Given the description of an element on the screen output the (x, y) to click on. 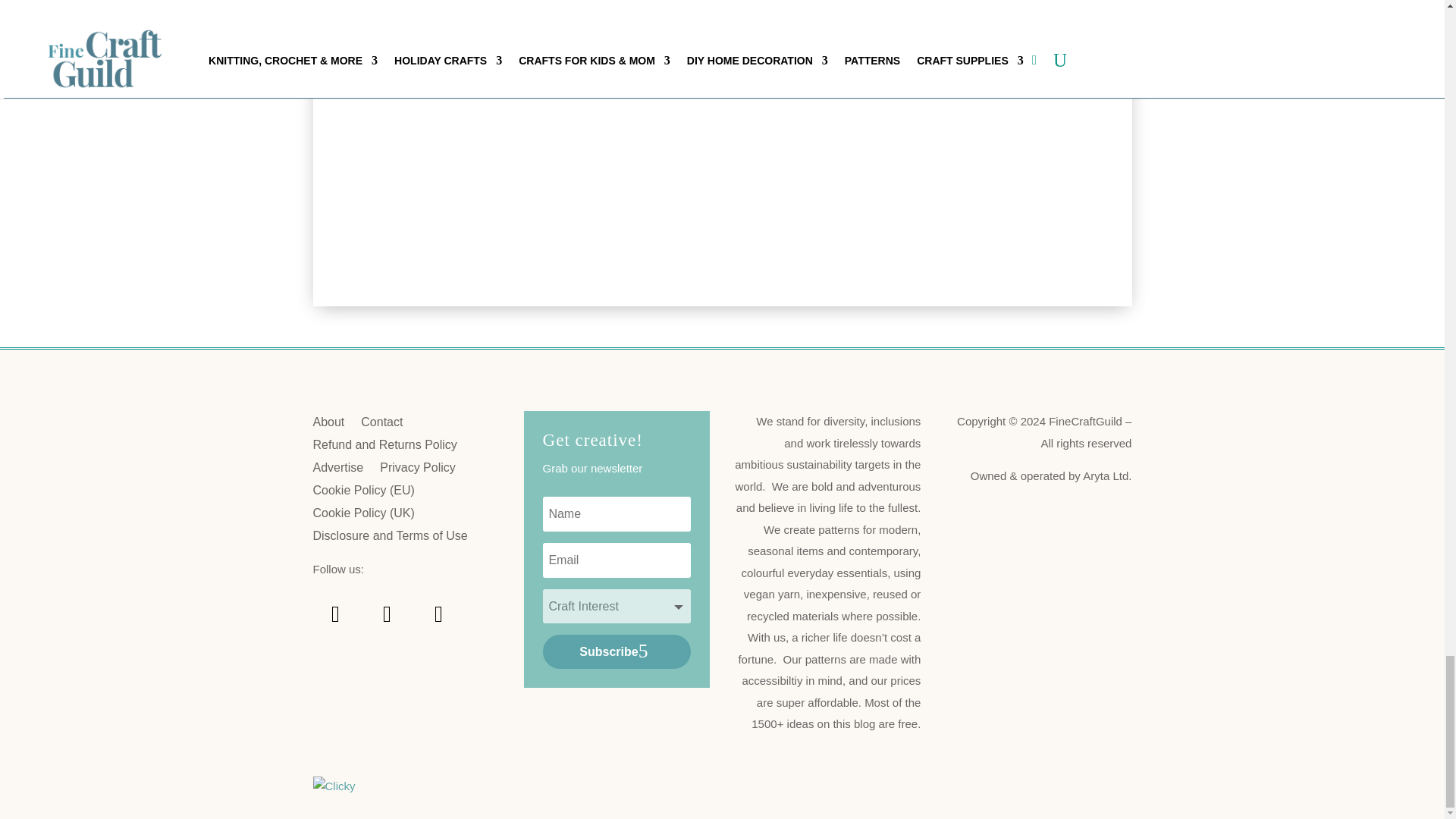
Follow on X (437, 614)
Follow on Facebook (386, 614)
Follow on Pinterest (335, 614)
Real Time Web Analytics (334, 785)
